Given the description of an element on the screen output the (x, y) to click on. 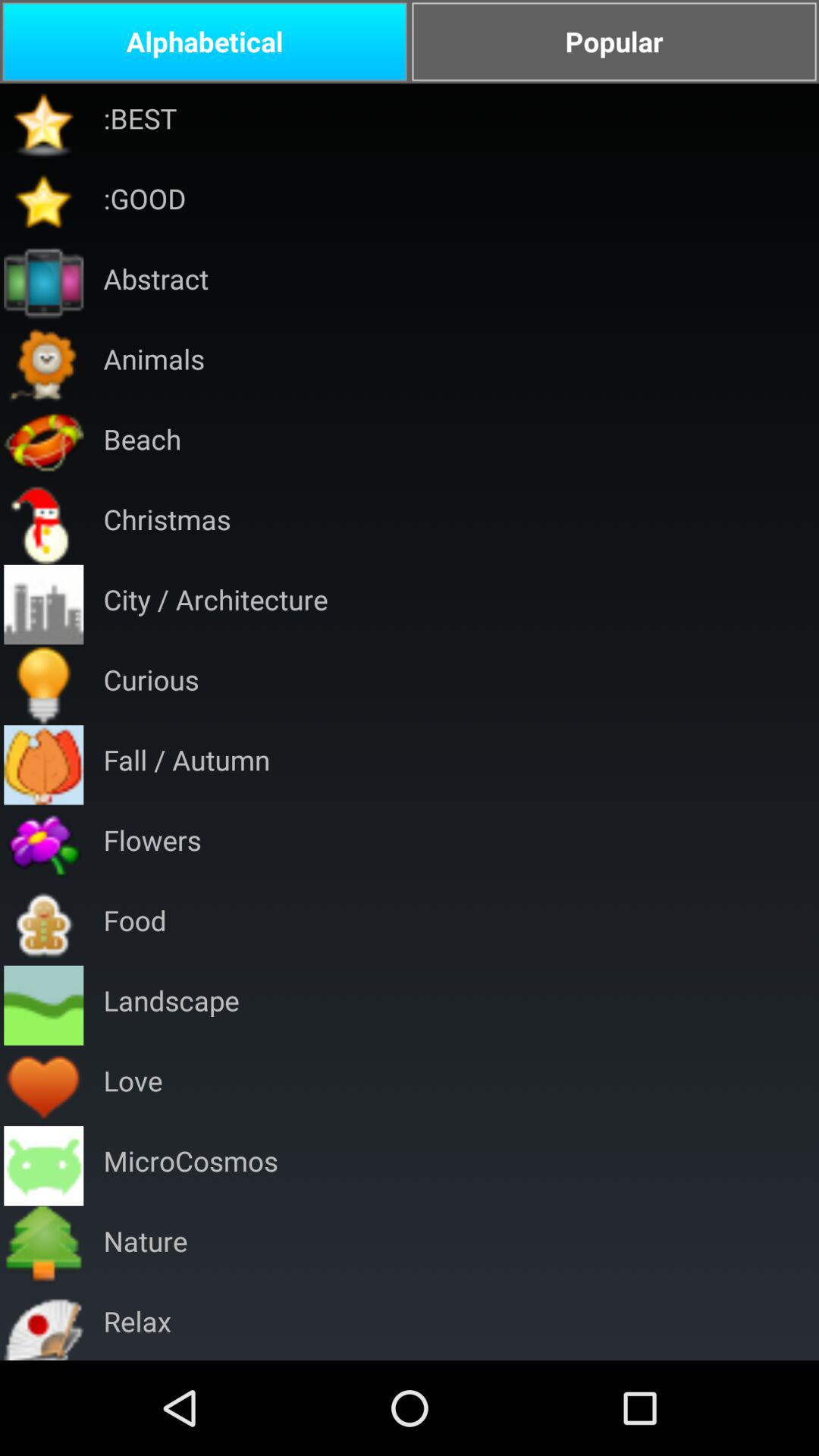
turn off the love app (132, 1085)
